Given the description of an element on the screen output the (x, y) to click on. 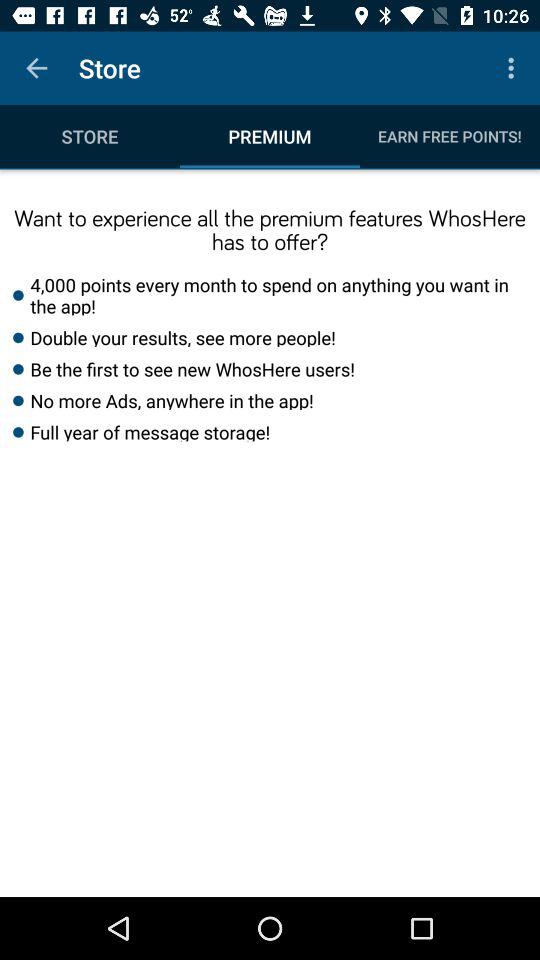
choose the item above the store item (36, 68)
